Given the description of an element on the screen output the (x, y) to click on. 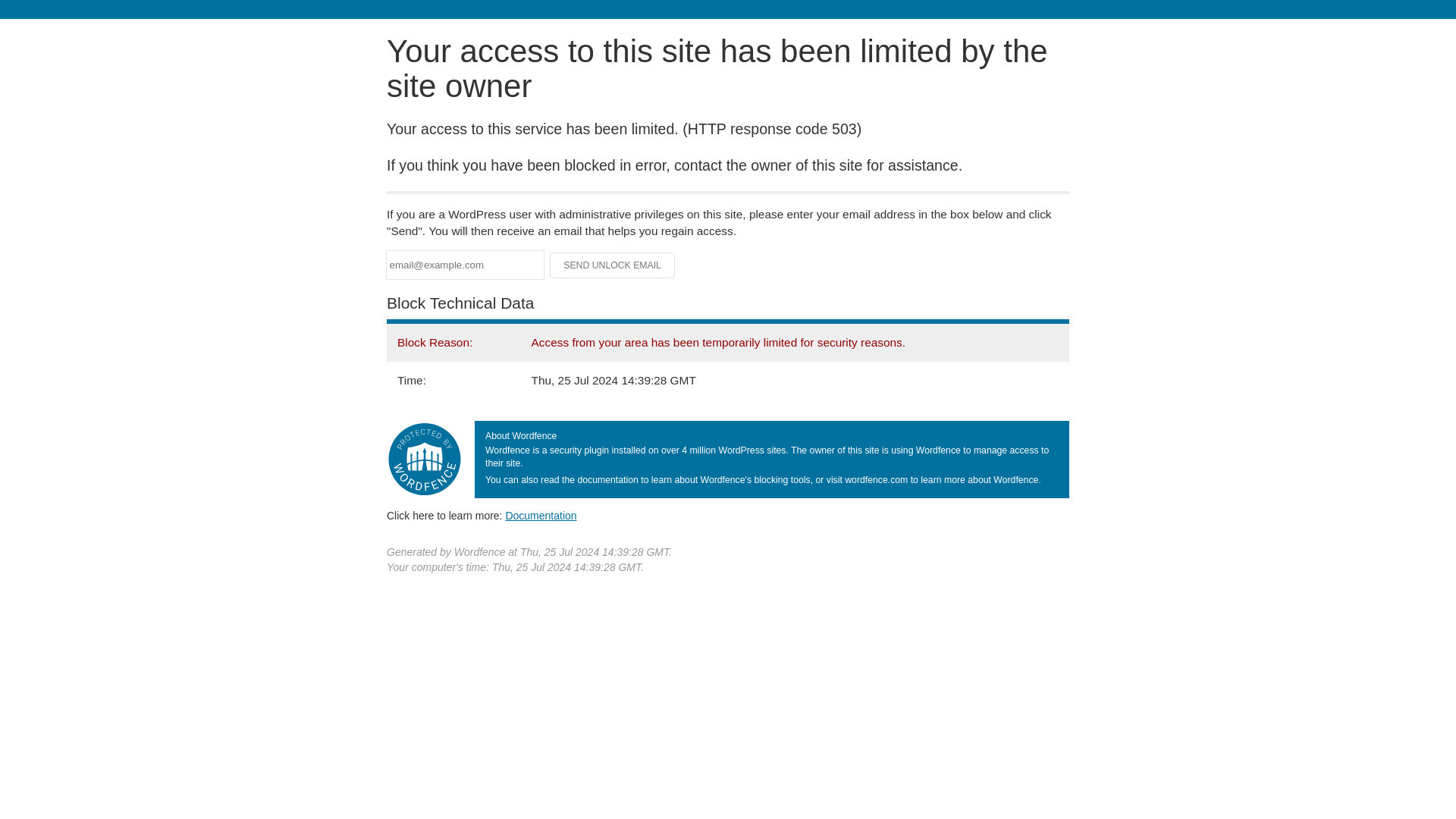
Send Unlock Email (612, 265)
Send Unlock Email (612, 265)
Documentation (540, 515)
